Given the description of an element on the screen output the (x, y) to click on. 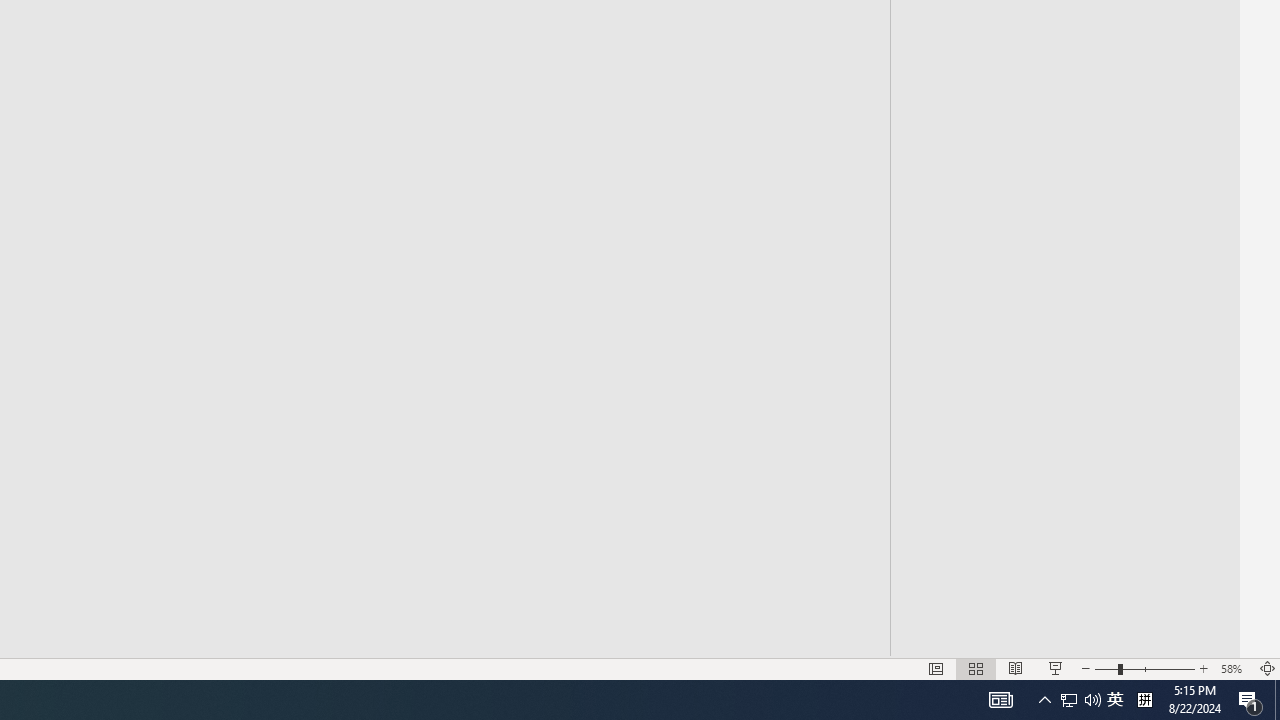
Zoom 58% (1234, 668)
